Given the description of an element on the screen output the (x, y) to click on. 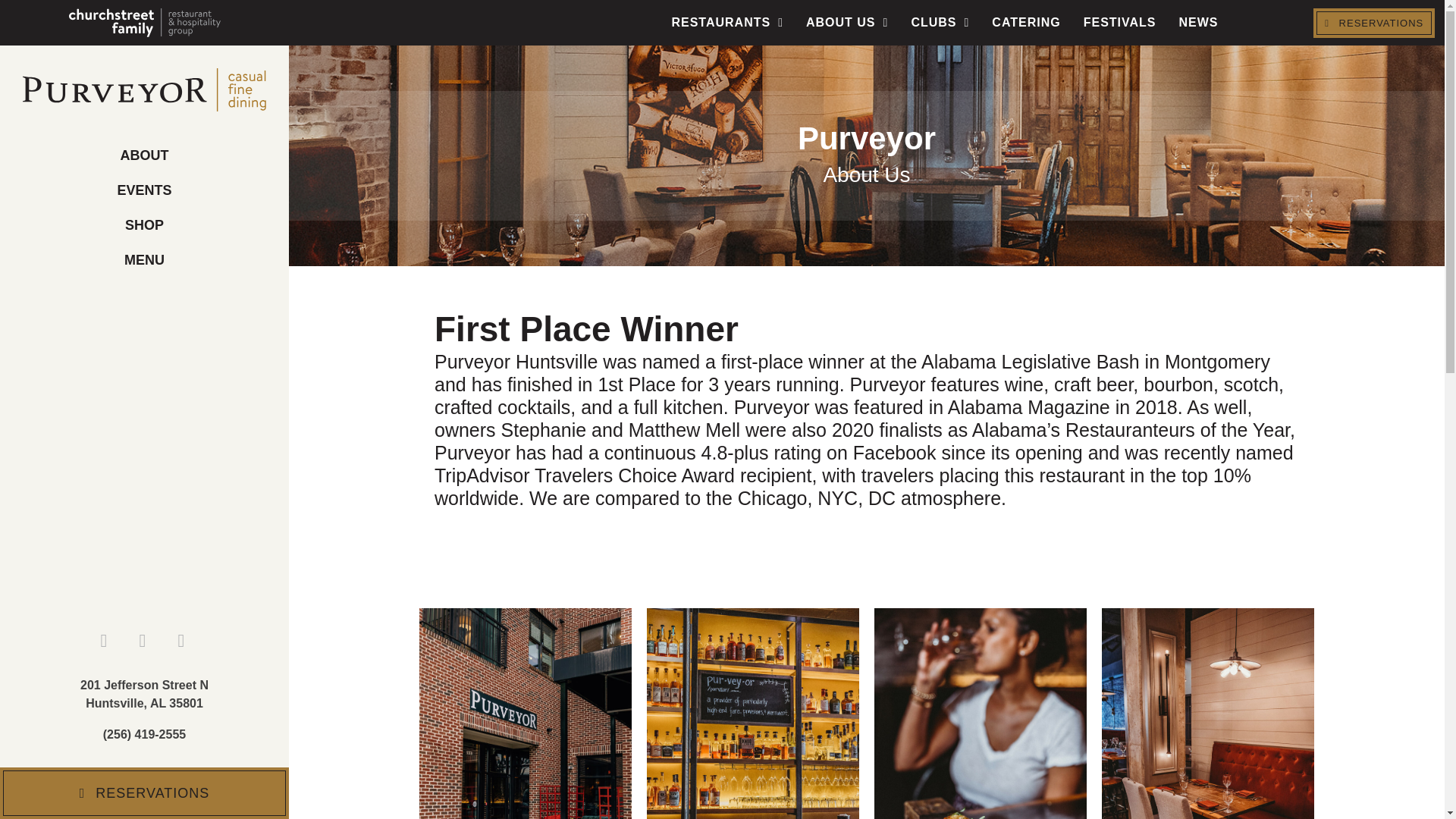
CLUBS (940, 22)
CATERING (1025, 22)
RESTAURANTS (727, 22)
FESTIVALS (1119, 22)
NEWS (1198, 22)
ABOUT US (847, 22)
